Given the description of an element on the screen output the (x, y) to click on. 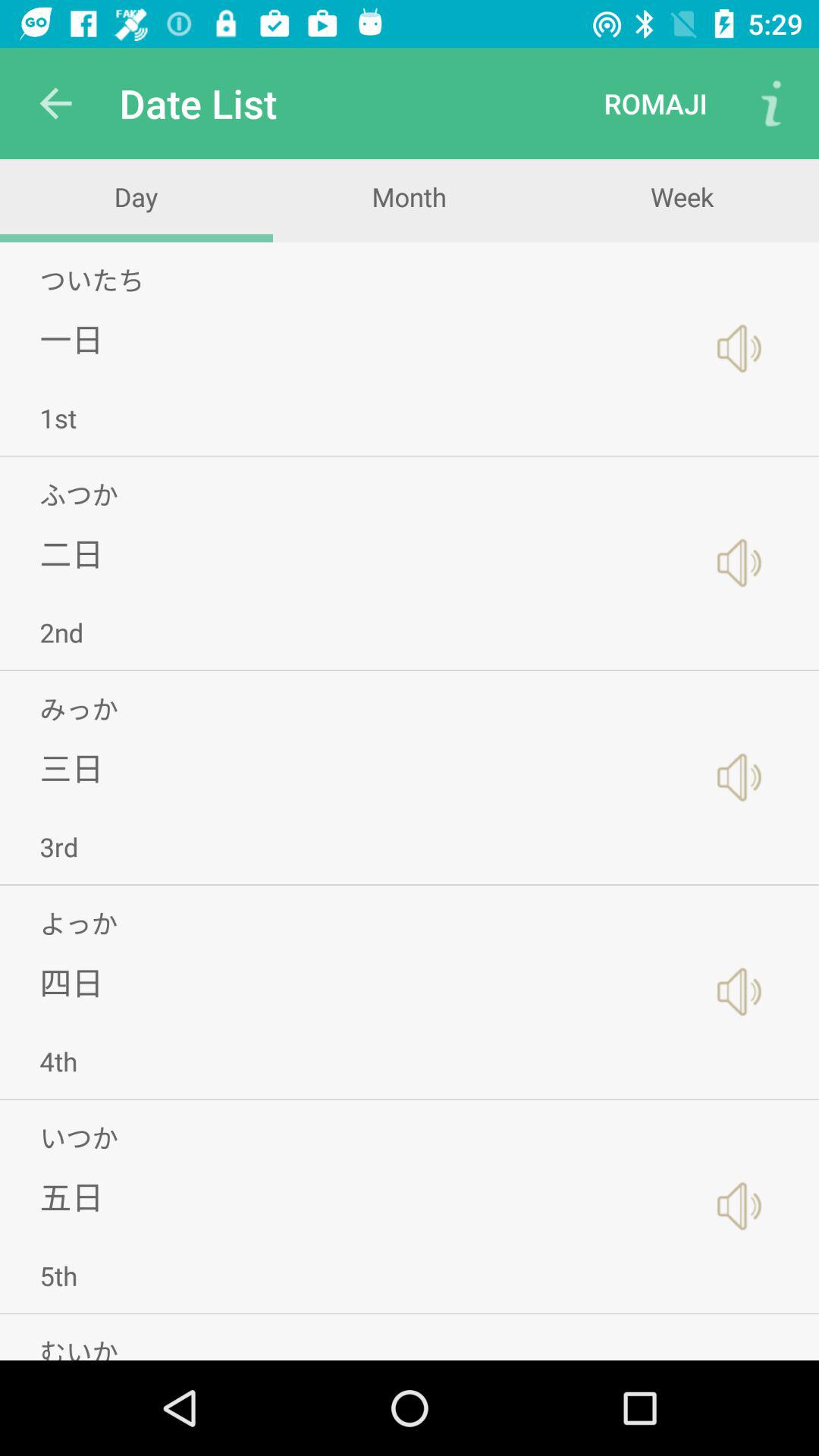
choose item above 2nd app (71, 553)
